Given the description of an element on the screen output the (x, y) to click on. 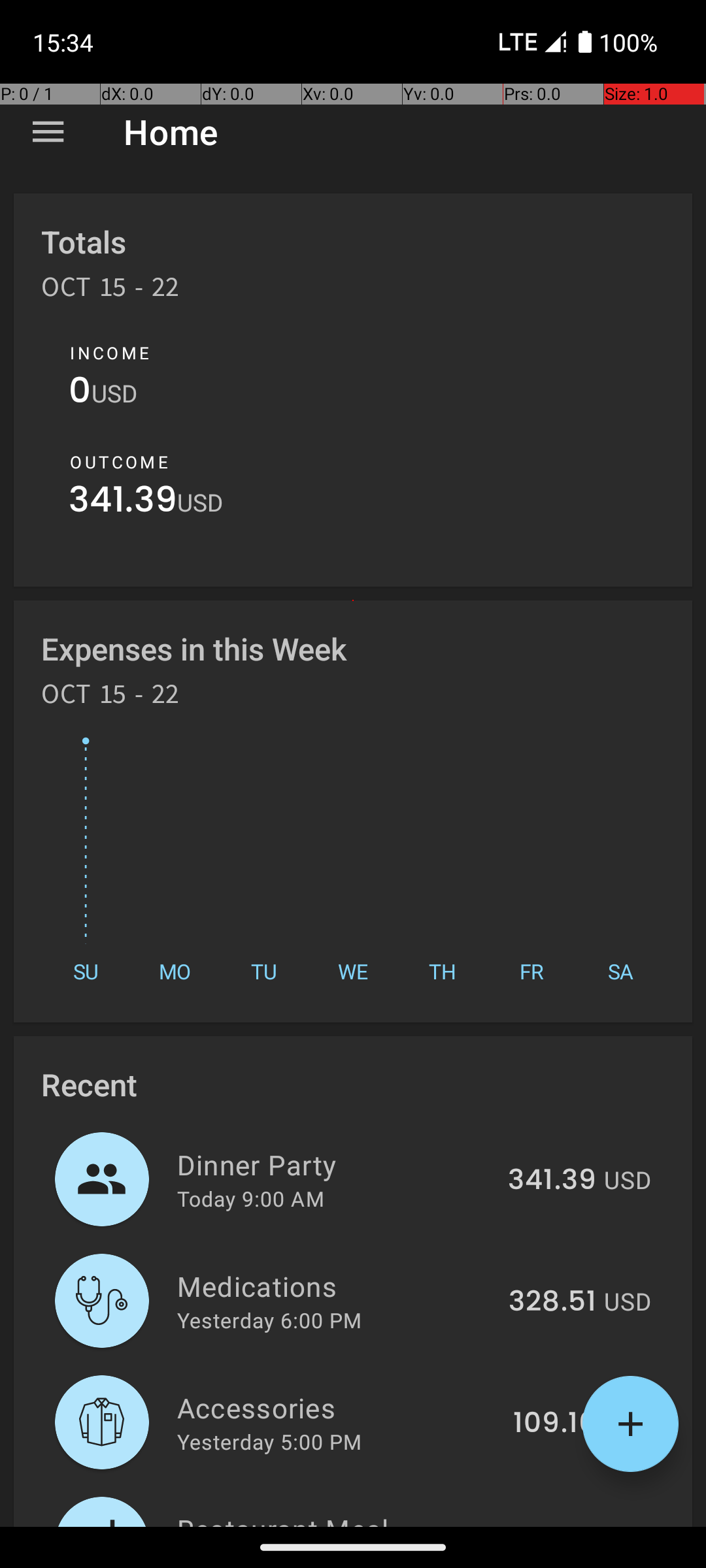
341.39 Element type: android.widget.TextView (122, 502)
Dinner Party Element type: android.widget.TextView (334, 1164)
Today 9:00 AM Element type: android.widget.TextView (250, 1198)
Medications Element type: android.widget.TextView (335, 1285)
Yesterday 6:00 PM Element type: android.widget.TextView (269, 1320)
328.51 Element type: android.widget.TextView (551, 1301)
Accessories Element type: android.widget.TextView (337, 1407)
Yesterday 5:00 PM Element type: android.widget.TextView (269, 1441)
109.16 Element type: android.widget.TextView (554, 1423)
Restaurant Meal Element type: android.widget.TextView (332, 1518)
287.92 Element type: android.widget.TextView (549, 1524)
